Given the description of an element on the screen output the (x, y) to click on. 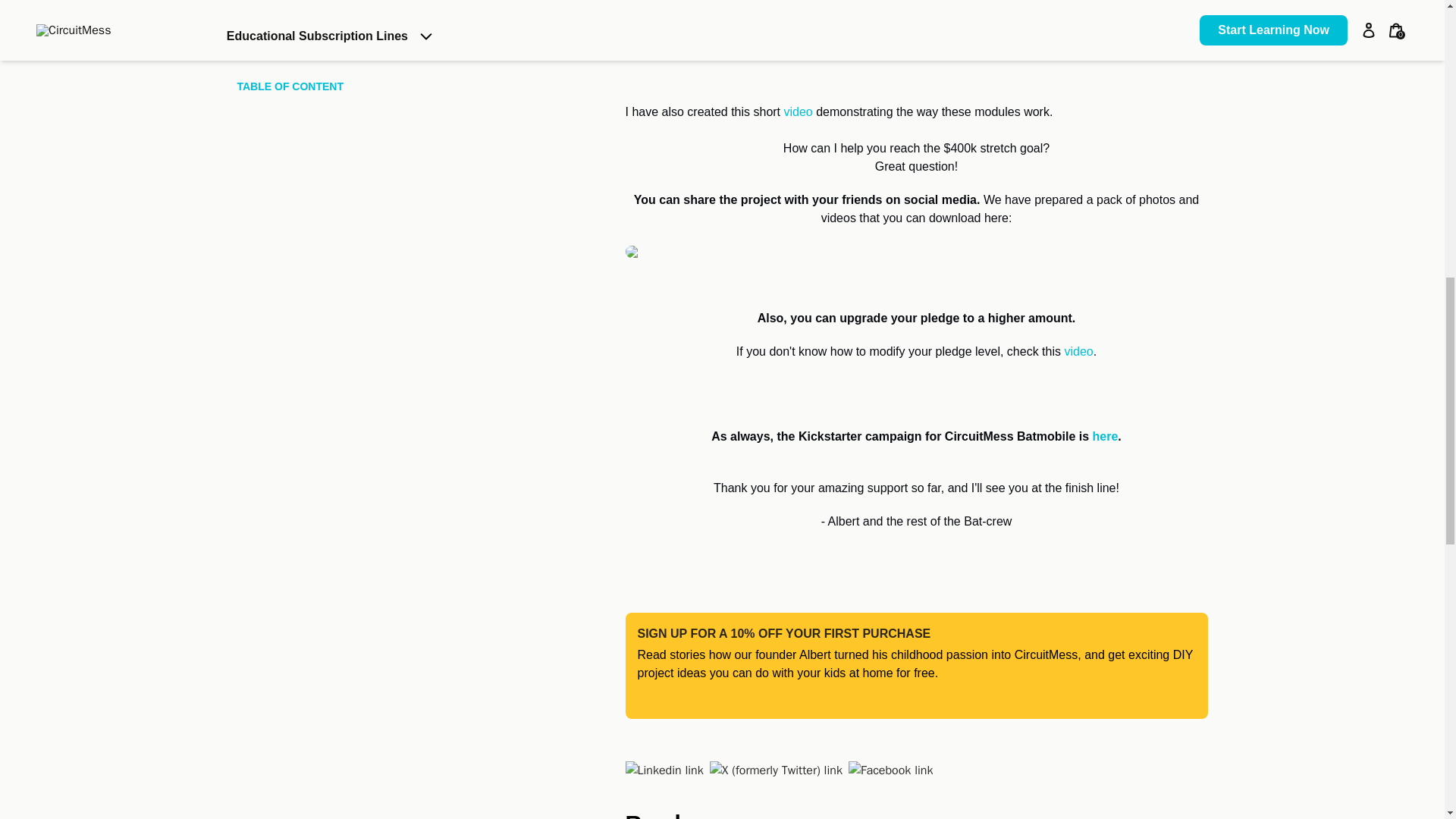
video (800, 111)
video (1078, 350)
here (1105, 436)
